Given the description of an element on the screen output the (x, y) to click on. 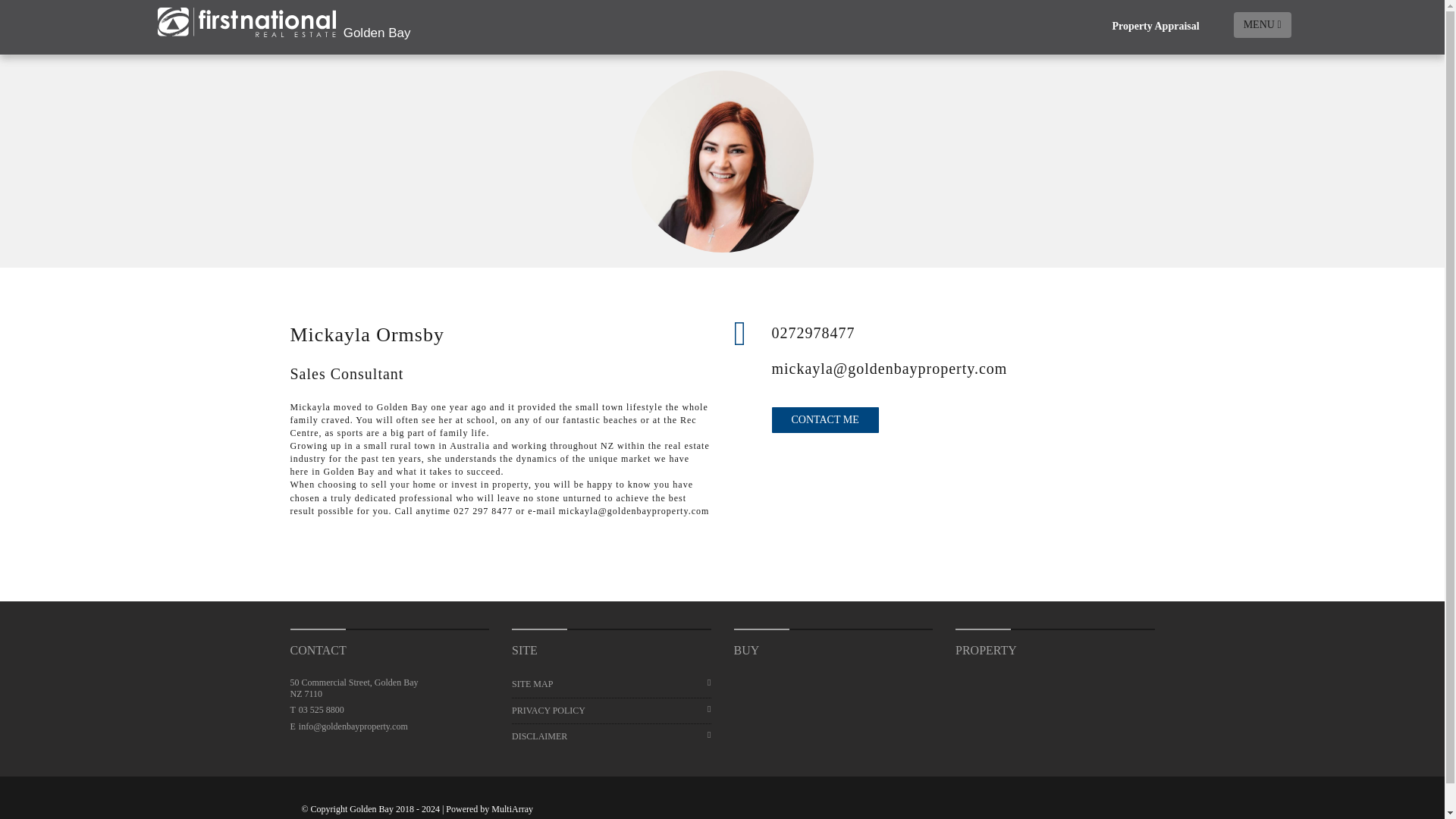
PRIVACY POLICY (611, 710)
DISCLAIMER (611, 736)
SITE MAP (611, 684)
Mickayla Ormsby (721, 161)
0272978477 (962, 332)
Property Appraisal (1155, 27)
CONTACT ME (825, 420)
03 525 8800 (320, 709)
